Given the description of an element on the screen output the (x, y) to click on. 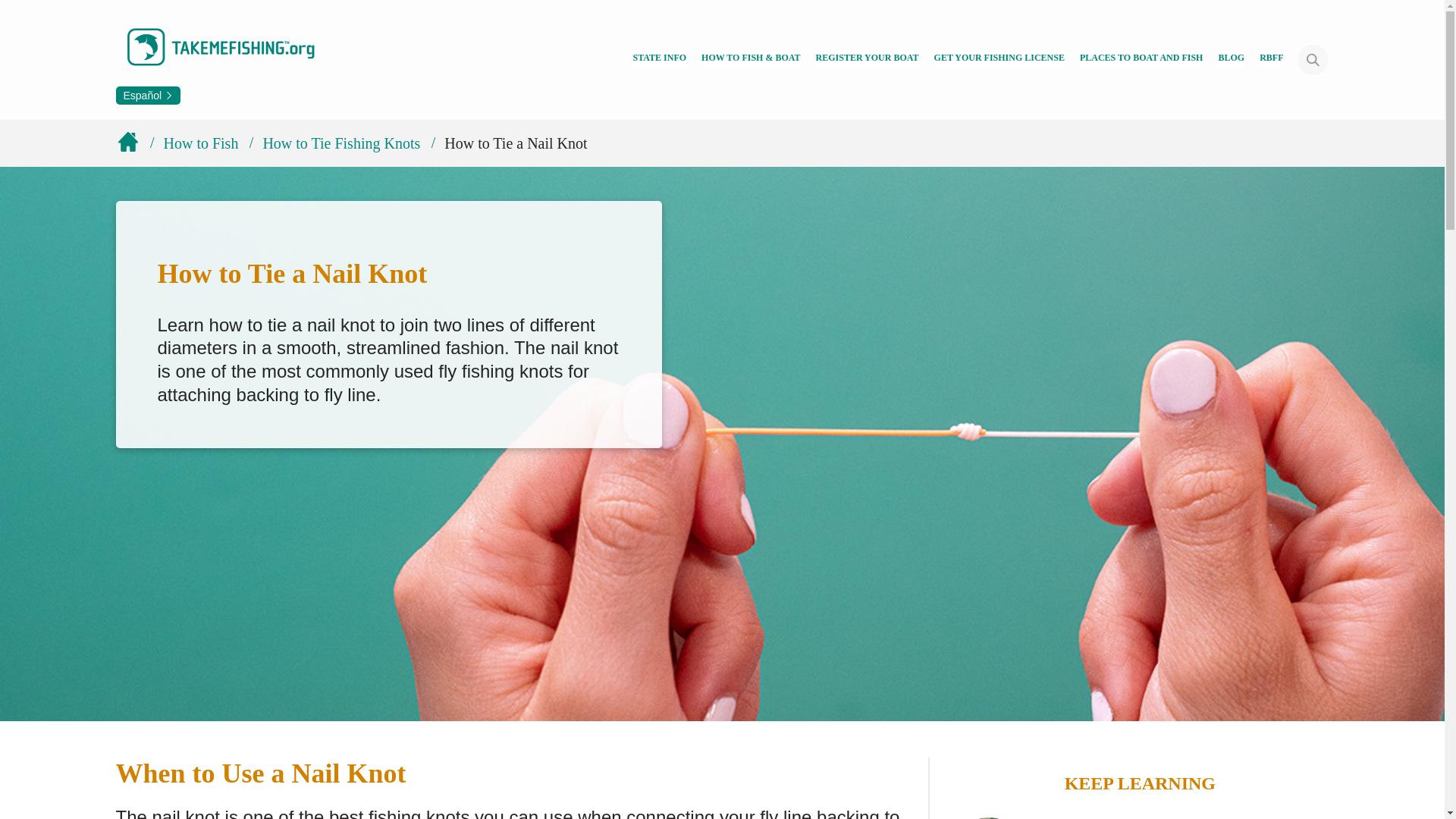
Register Your Boat (866, 59)
RBFF (1270, 59)
REGISTER YOUR BOAT (866, 59)
Get Your Fishing License (999, 59)
Places To Boat And Fish (1142, 59)
BLOG (1230, 59)
GET YOUR FISHING LICENSE (999, 59)
RBFF (1270, 59)
PLACES TO BOAT AND FISH (1142, 59)
Blog (1230, 59)
